Given the description of an element on the screen output the (x, y) to click on. 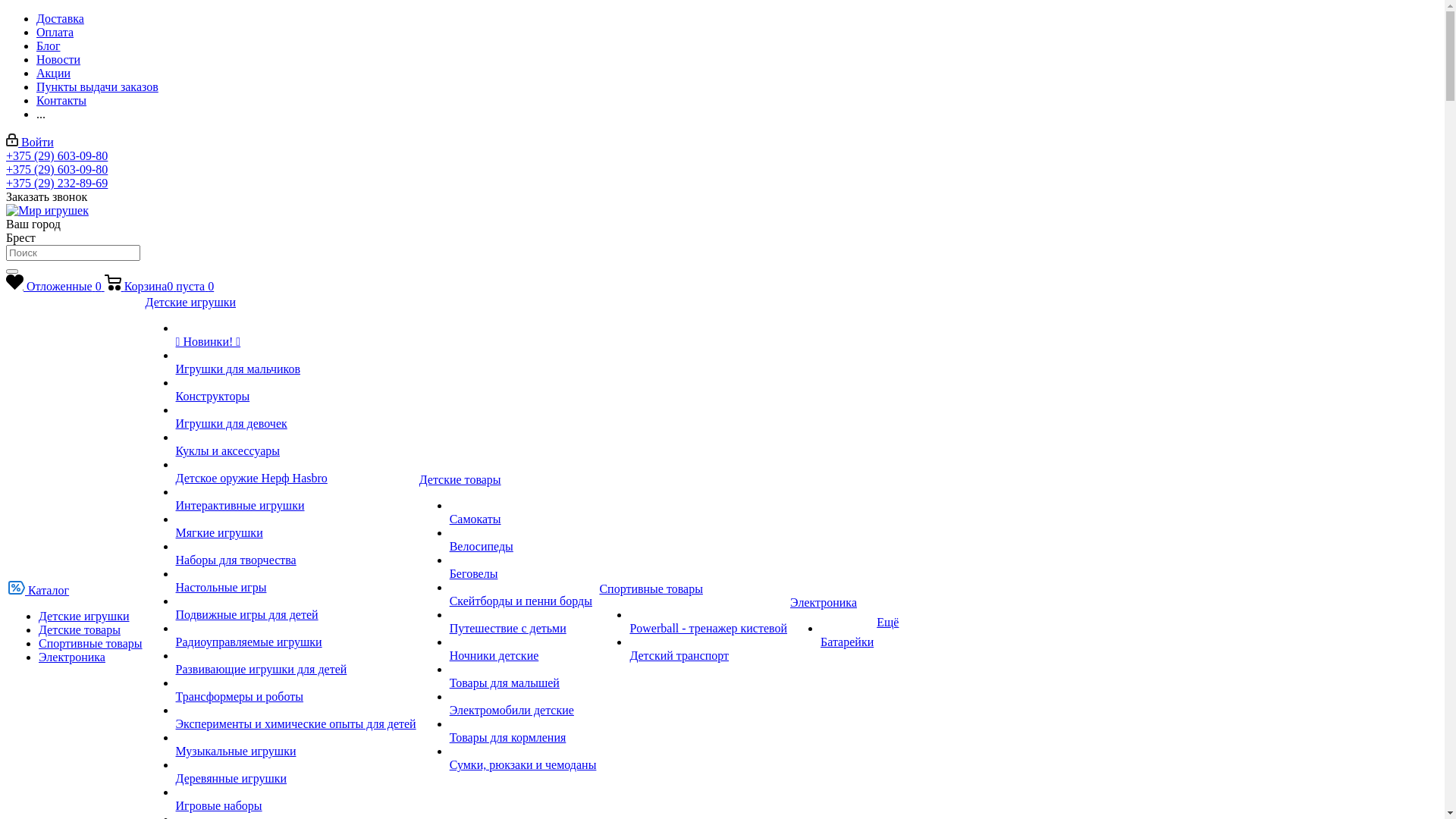
+375 (29) 603-09-80 Element type: text (56, 155)
+375 (29) 603-09-80 Element type: text (56, 169)
+375 (29) 232-89-69 Element type: text (56, 182)
